Given the description of an element on the screen output the (x, y) to click on. 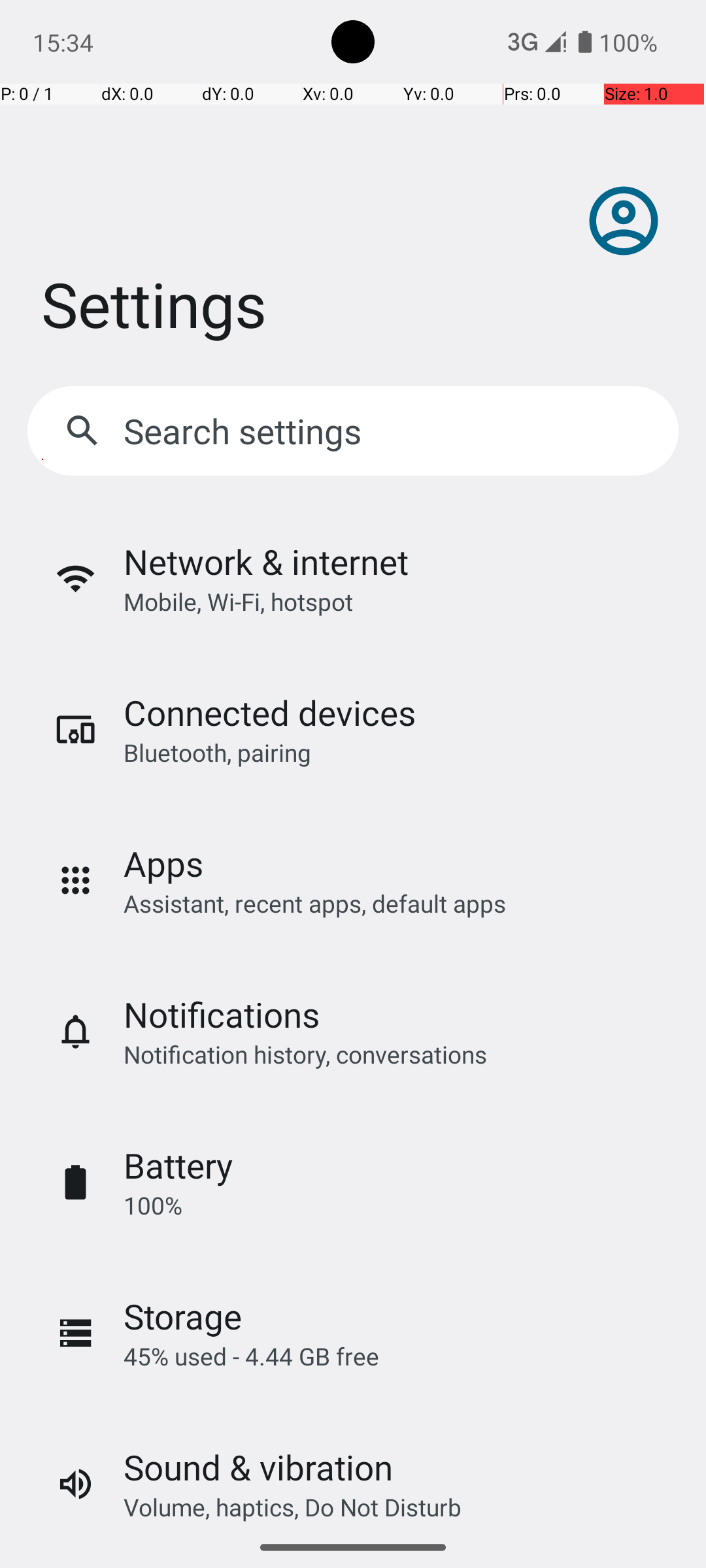
45% used - 4.44 GB free Element type: android.widget.TextView (251, 1355)
